Given the description of an element on the screen output the (x, y) to click on. 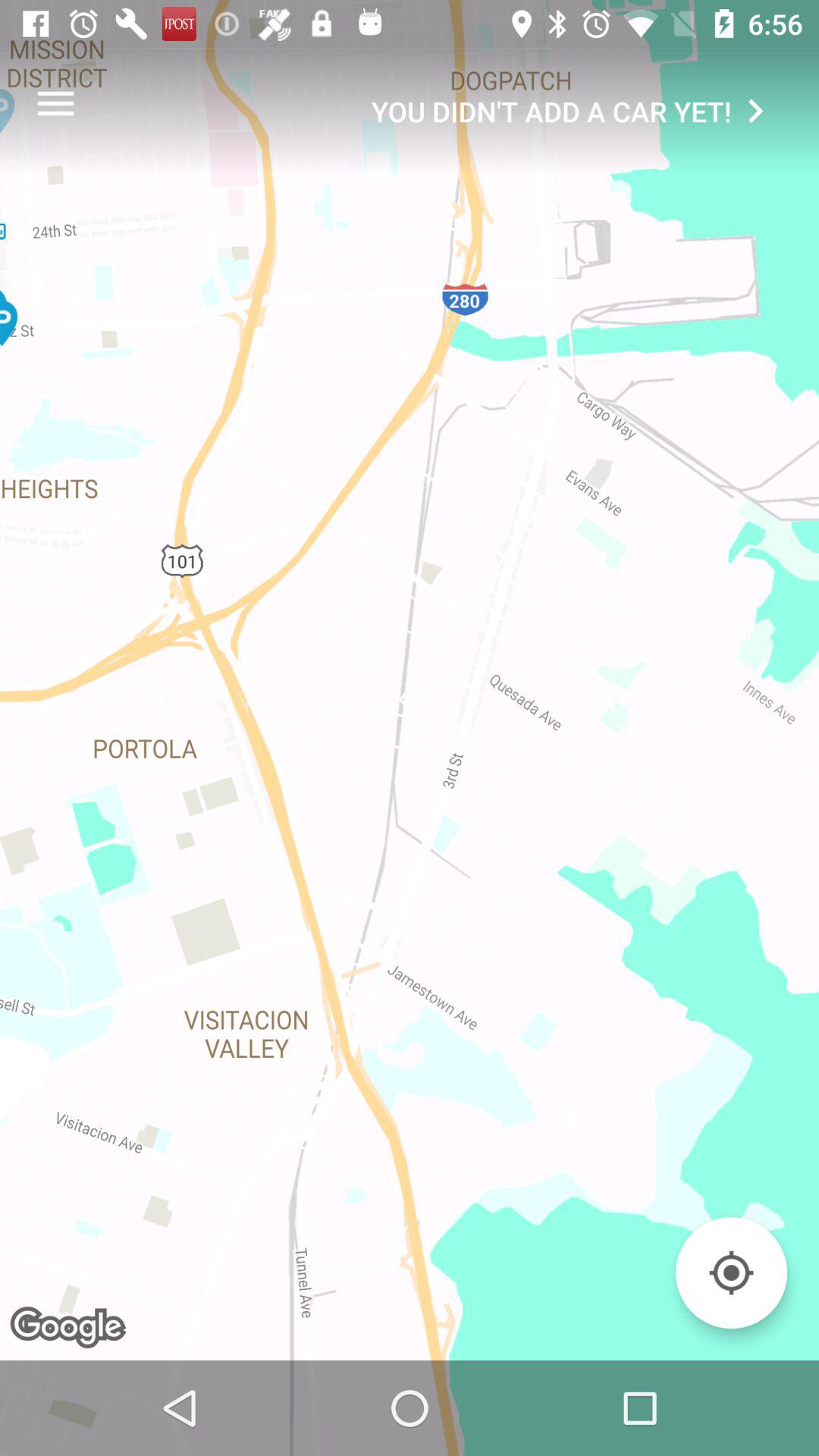
press item to the left of the you didn t (55, 103)
